Given the description of an element on the screen output the (x, y) to click on. 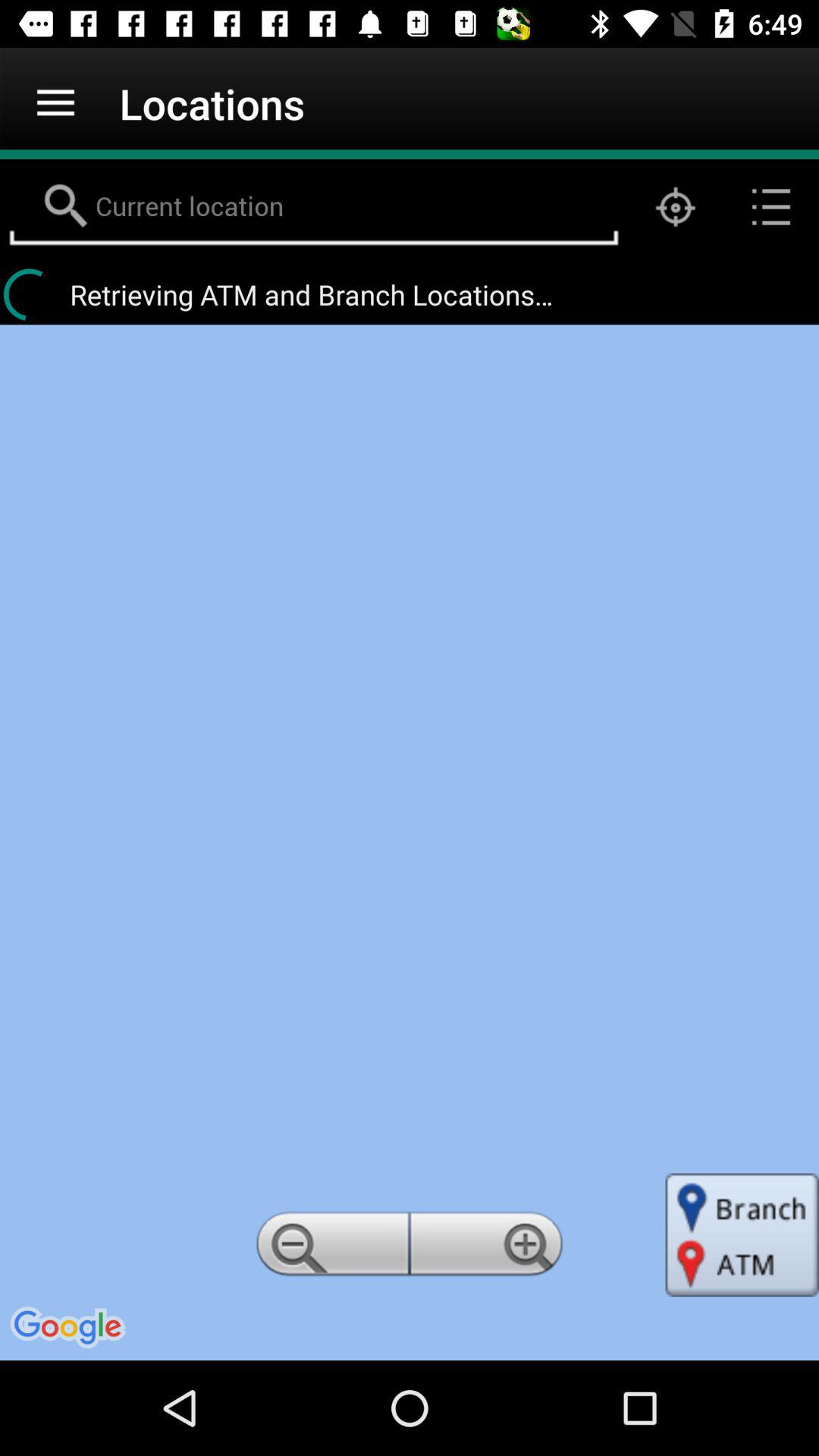
zoom out (329, 1248)
